Given the description of an element on the screen output the (x, y) to click on. 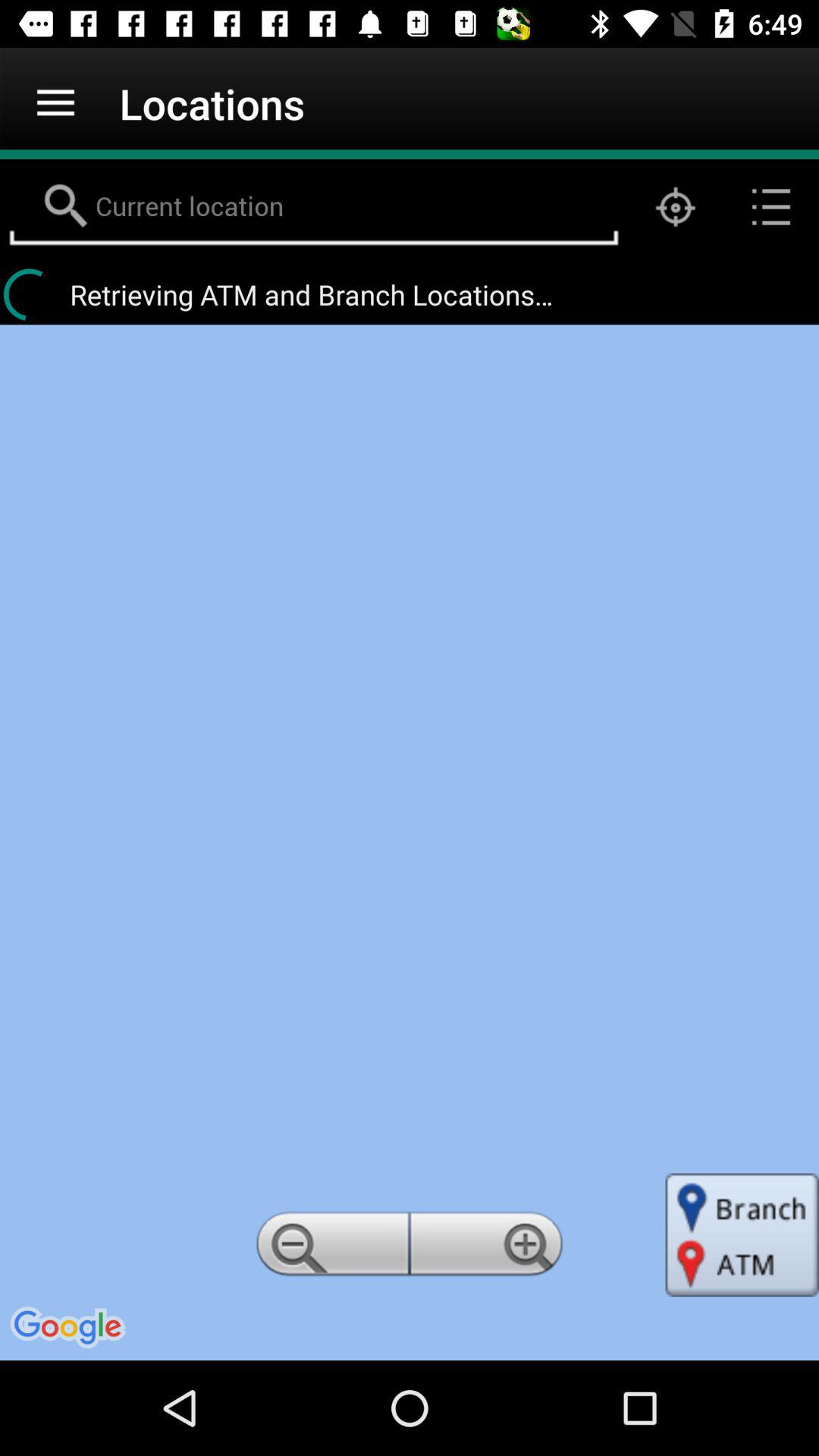
zoom out (329, 1248)
